Given the description of an element on the screen output the (x, y) to click on. 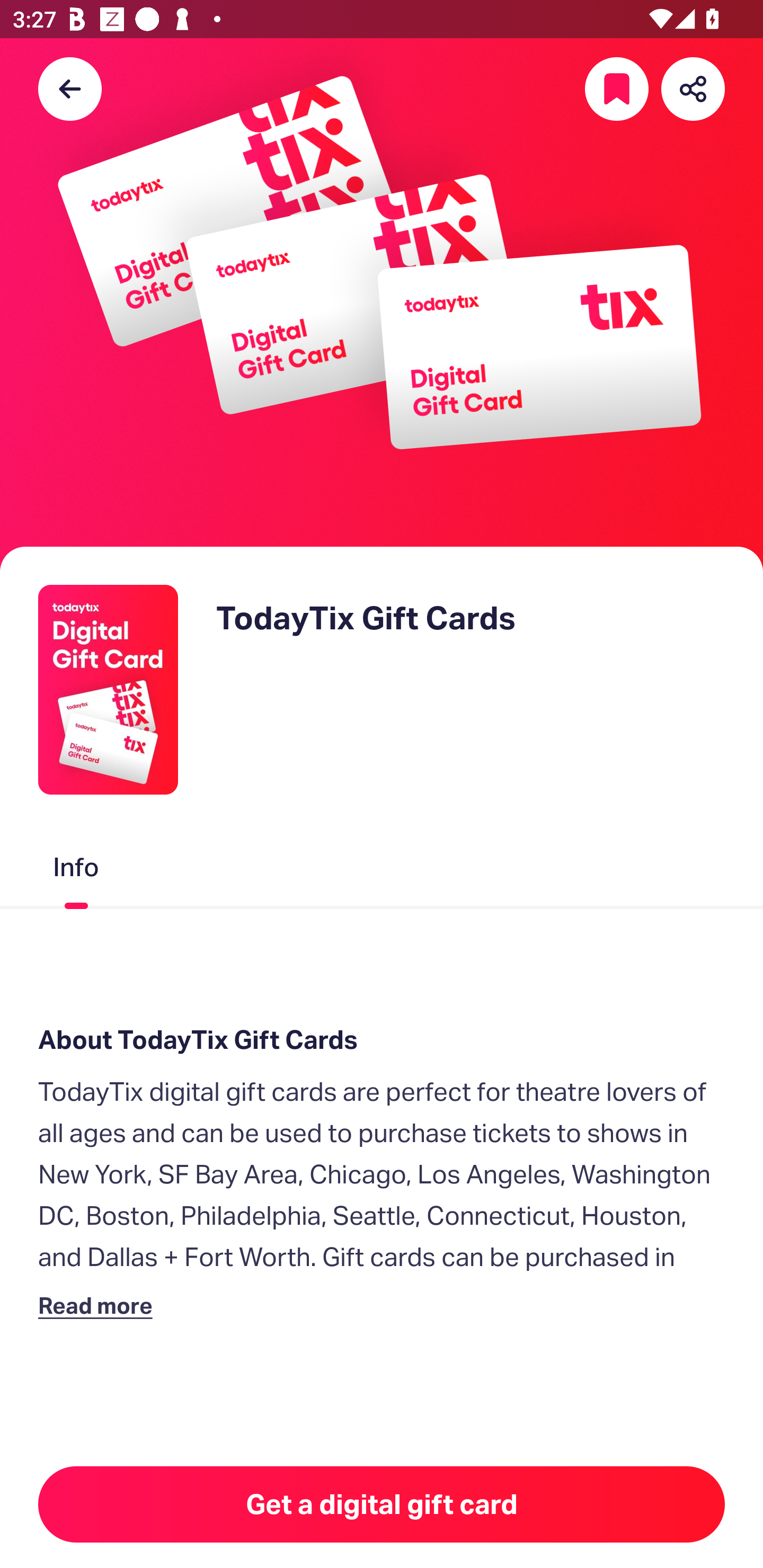
About TodayTix Gift Cards (381, 1039)
Read more (99, 1305)
Get a digital gift card (381, 1504)
